Given the description of an element on the screen output the (x, y) to click on. 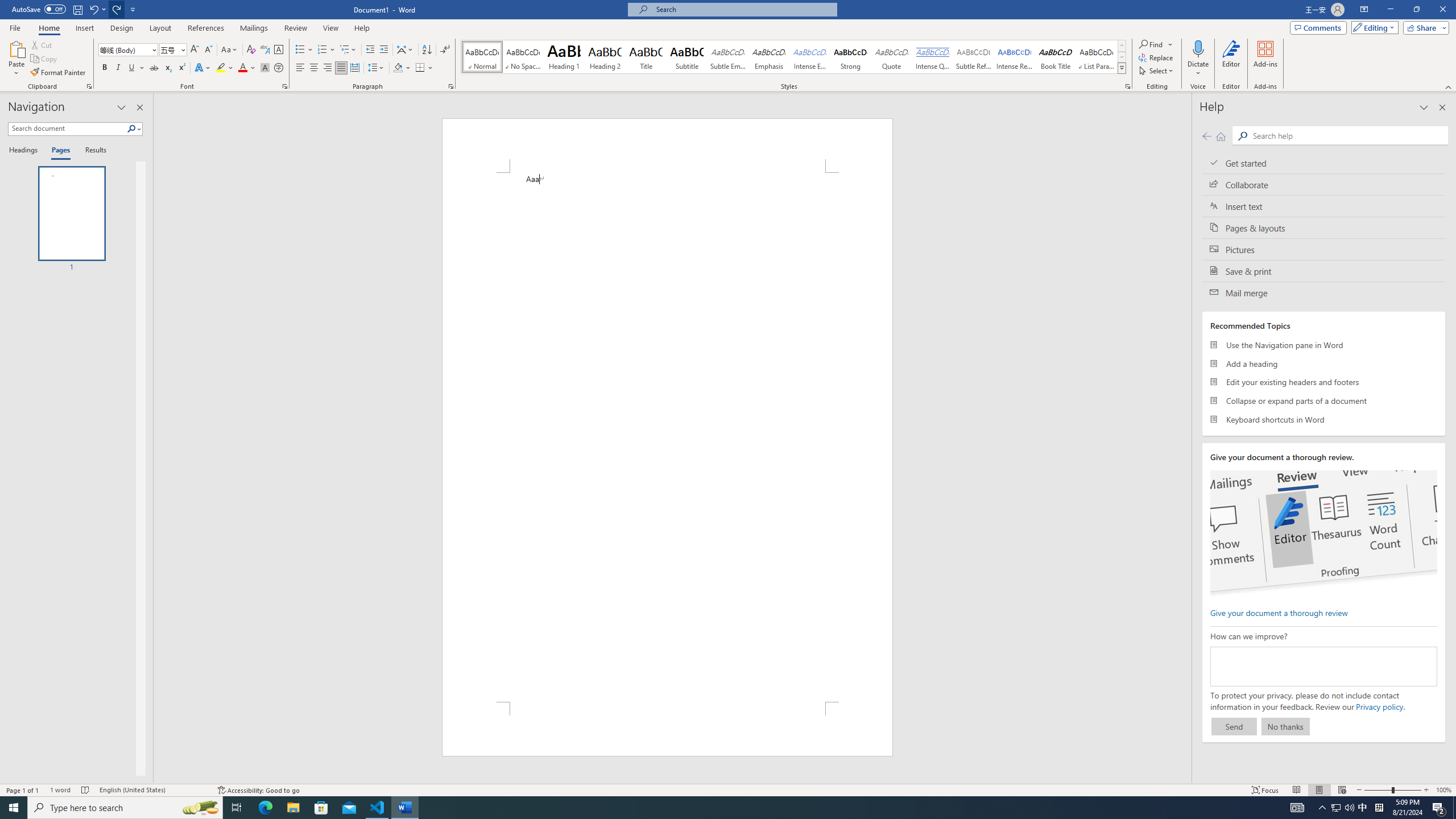
Paragraph... (450, 85)
Intense Emphasis (809, 56)
Microsoft search (742, 9)
Subtle Reference (973, 56)
Line and Paragraph Spacing (376, 67)
Page 1 content (667, 436)
References (205, 28)
Intense Reference (1014, 56)
Italic (118, 67)
Font... (285, 85)
Previous page (1206, 136)
Bullets (304, 49)
Cut (42, 44)
